Given the description of an element on the screen output the (x, y) to click on. 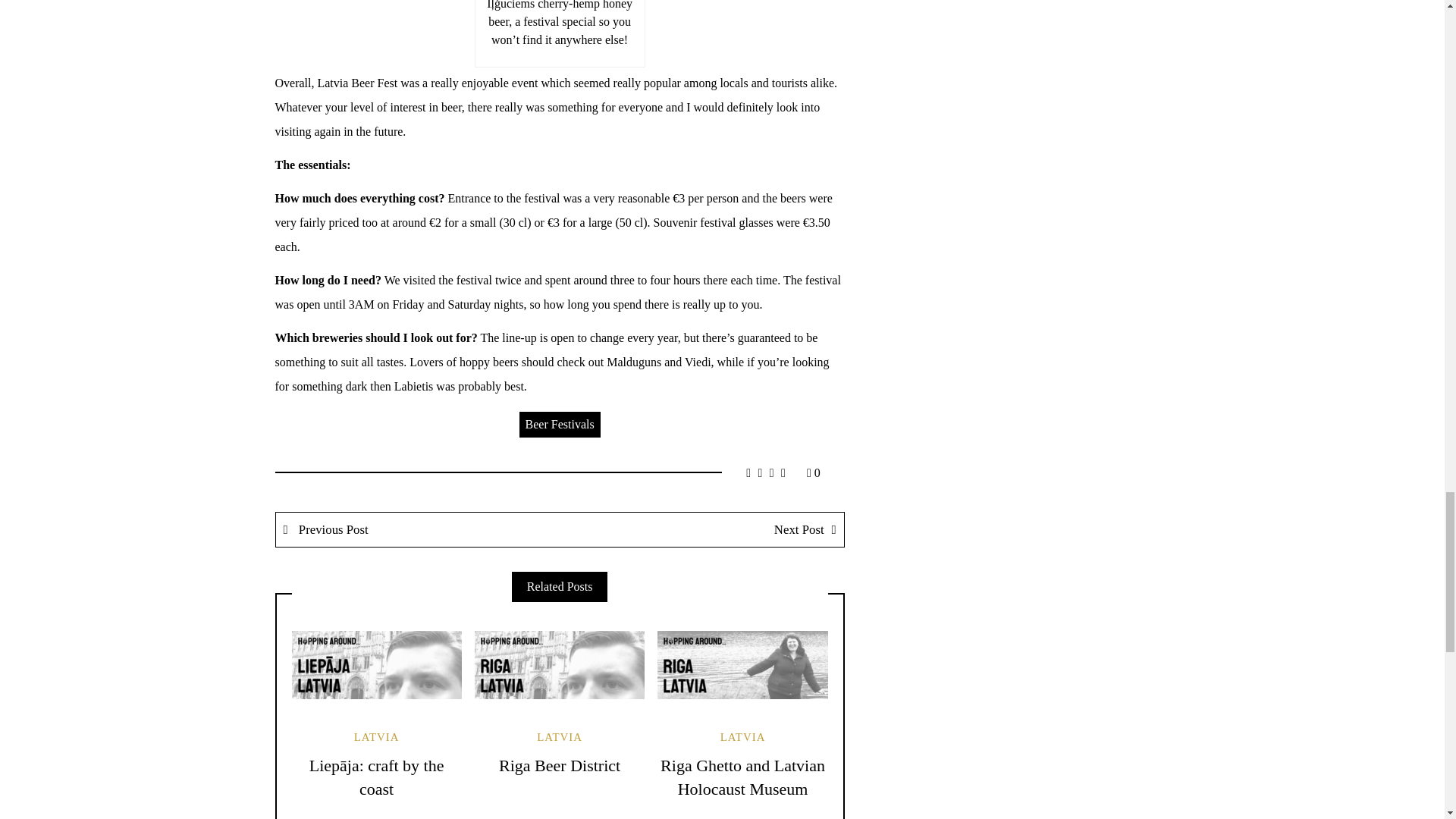
Riga Beer District (559, 764)
Riga Beer District (559, 764)
Riga Ghetto and Latvian Holocaust Museum (743, 776)
Previous Post (418, 529)
Permalink to: "Riga Ghetto and Latvian Holocaust Museum" (742, 664)
0 (813, 472)
LATVIA (375, 736)
LATVIA (559, 736)
LATVIA (742, 736)
Next Post (701, 529)
Permalink to: "Riga Beer District" (559, 664)
Riga Ghetto and Latvian Holocaust Museum (743, 776)
Beer Festivals (559, 424)
